Given the description of an element on the screen output the (x, y) to click on. 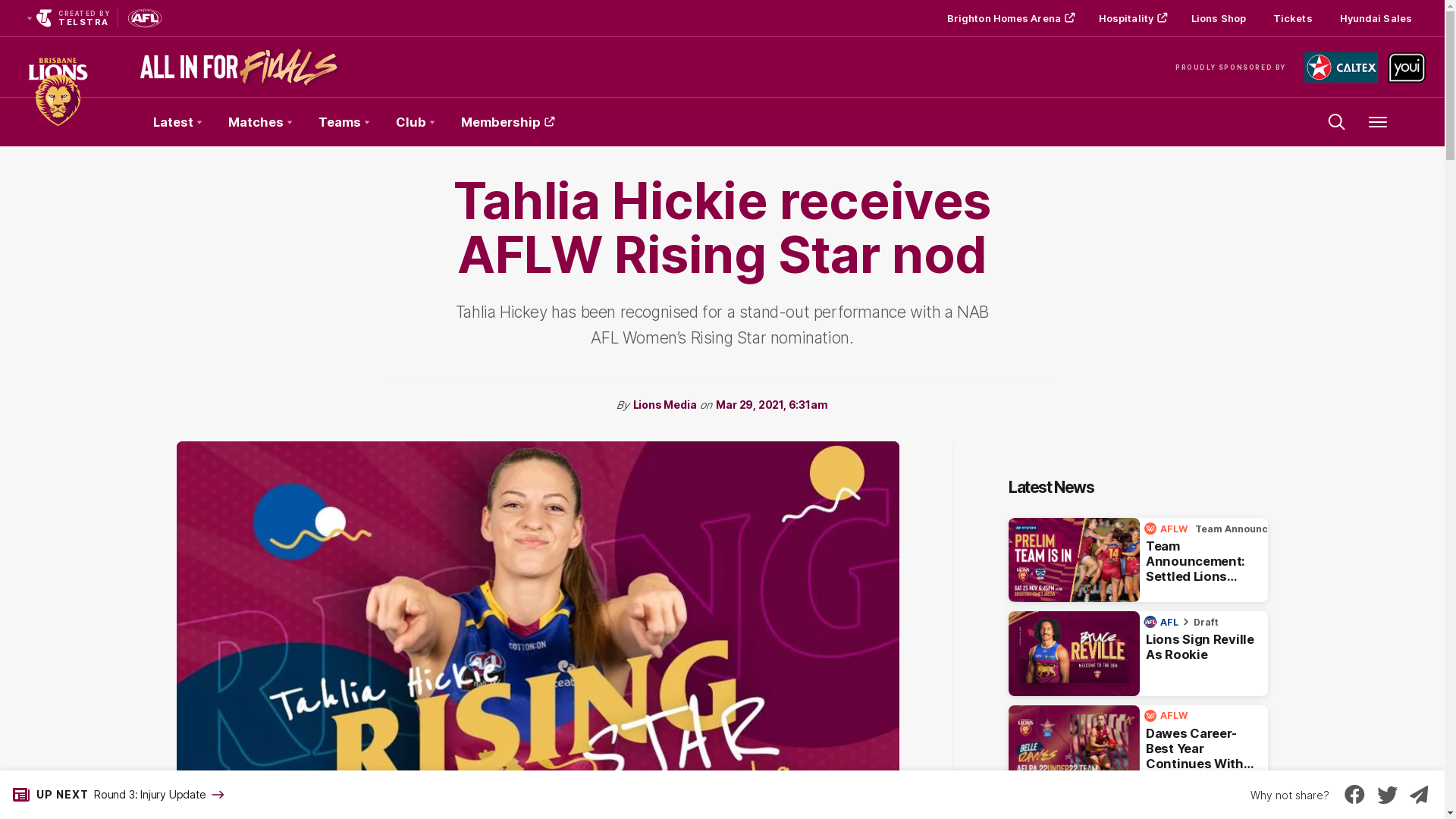
Lions Shop Element type: text (1218, 18)
Teams Element type: text (343, 121)
Dawes Career-Best Year Continues With 22under22 Selection Element type: hover (1137, 747)
Hospitality Element type: text (1131, 18)
UP NEXT
Round 3: Injury Update Element type: text (113, 794)
Club Element type: text (414, 121)
Menu Element type: text (1377, 121)
Hyundai Sales Element type: text (1375, 18)
Club Logo Element type: text (57, 121)
Latest Element type: text (176, 121)
Membership Element type: text (505, 121)
AFLW Element type: text (1167, 715)
AFL Element type: text (1163, 621)
Matches Element type: text (259, 121)
CREATED BY
TELSTRA Element type: text (66, 18)
Team Announcement: Settled Lions Ready for Cats Fight Element type: hover (1137, 559)
Brighton Homes Arena Element type: text (1009, 18)
Lions Sign Reville As Rookie Element type: hover (1137, 653)
AFLW Element type: text (1167, 528)
Tickets Element type: text (1292, 18)
